Given the description of an element on the screen output the (x, y) to click on. 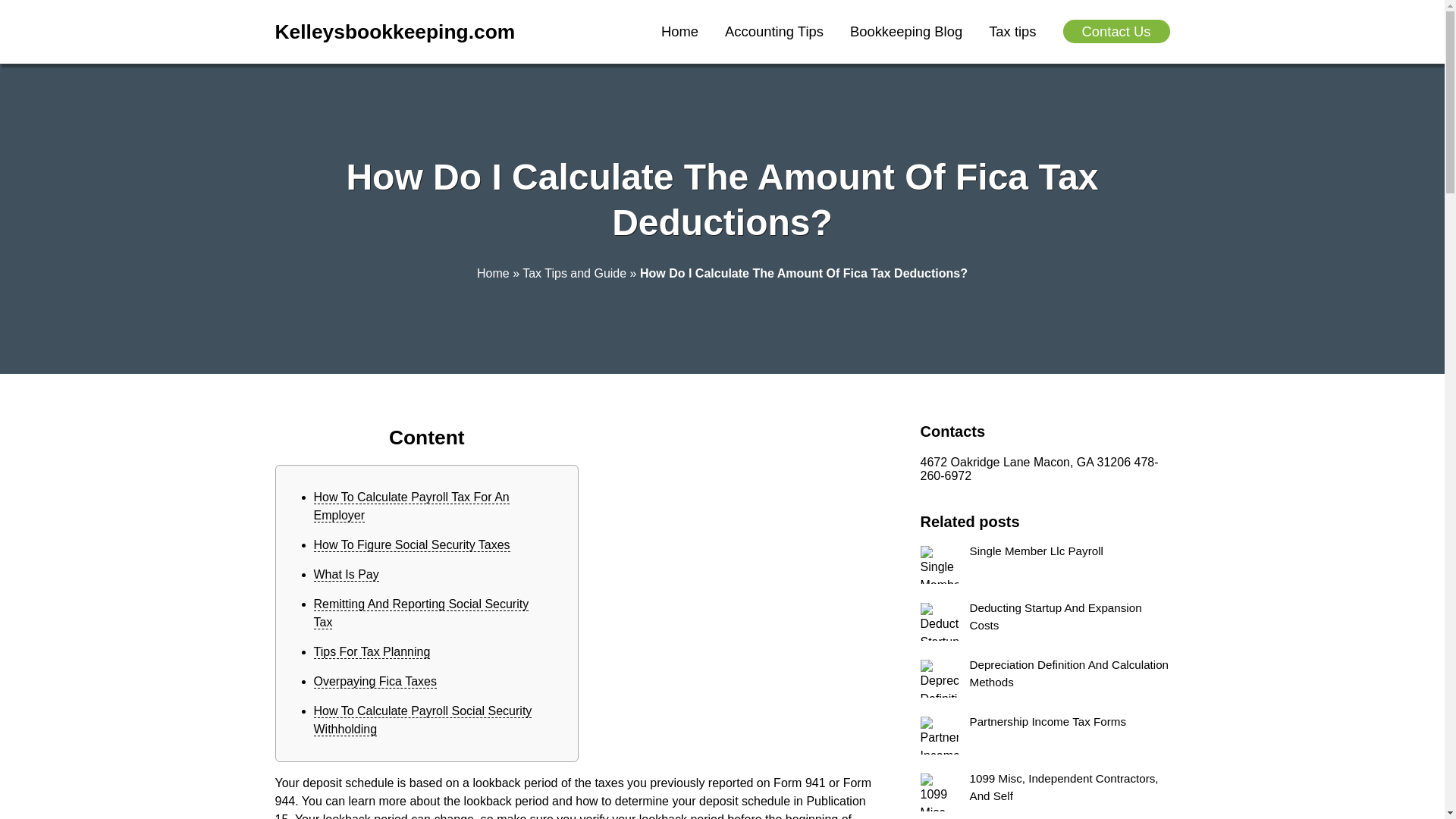
How To Calculate Payroll Tax For An Employer (411, 506)
How To Figure Social Security Taxes (412, 545)
Tax tips (1011, 31)
Tips For Tax Planning (372, 652)
Partnership Income Tax Forms (1045, 735)
Contact Us (1116, 31)
Single Member Llc Payroll (1045, 564)
Home (493, 273)
1099 Misc, Independent Contractors, And Self (1045, 792)
Deducting Startup And Expansion Costs (1045, 621)
Bookkeeping Blog (906, 31)
What Is Pay (346, 574)
Kelleysbookkeeping.com (395, 31)
Accounting Tips (774, 31)
Depreciation Definition And Calculation Methods (1045, 678)
